Given the description of an element on the screen output the (x, y) to click on. 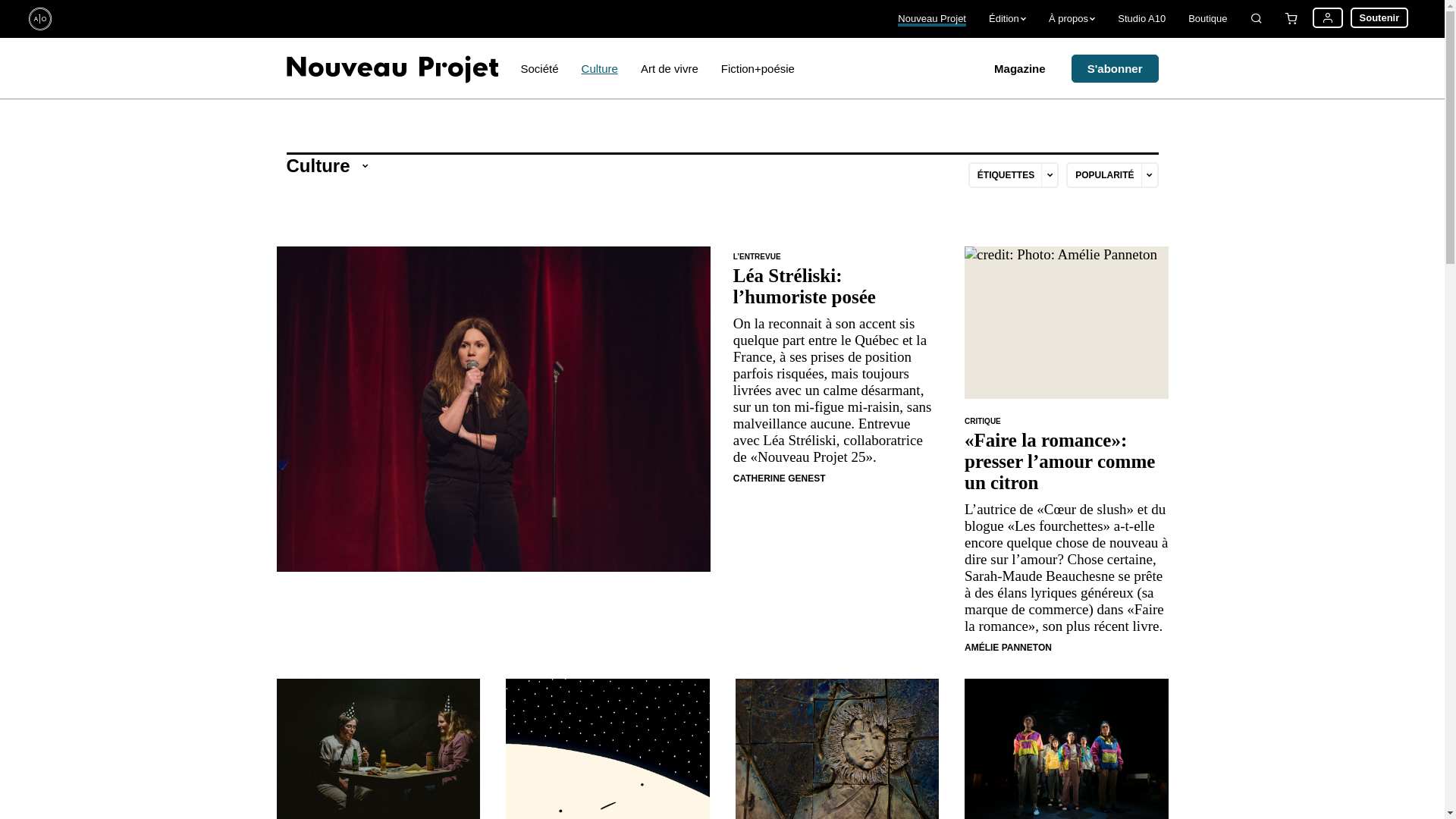
CRITIQUE Element type: text (982, 421)
S'abonner Element type: text (1114, 68)
Utilisateur Element type: text (1327, 17)
Magazine Element type: text (1019, 68)
Art de vivre Element type: text (669, 68)
Nouveau projet Element type: text (392, 68)
Boutique Element type: text (1207, 18)
Atelier 10 Element type: text (47, 18)
Recherche Element type: text (1256, 18)
CATHERINE GENEST Element type: text (779, 478)
Soutenir Element type: text (1379, 17)
Studio A10 Element type: text (1141, 18)
Culture Element type: text (599, 68)
Nouveau Projet Element type: text (931, 18)
Panier Element type: text (1291, 18)
